Given the description of an element on the screen output the (x, y) to click on. 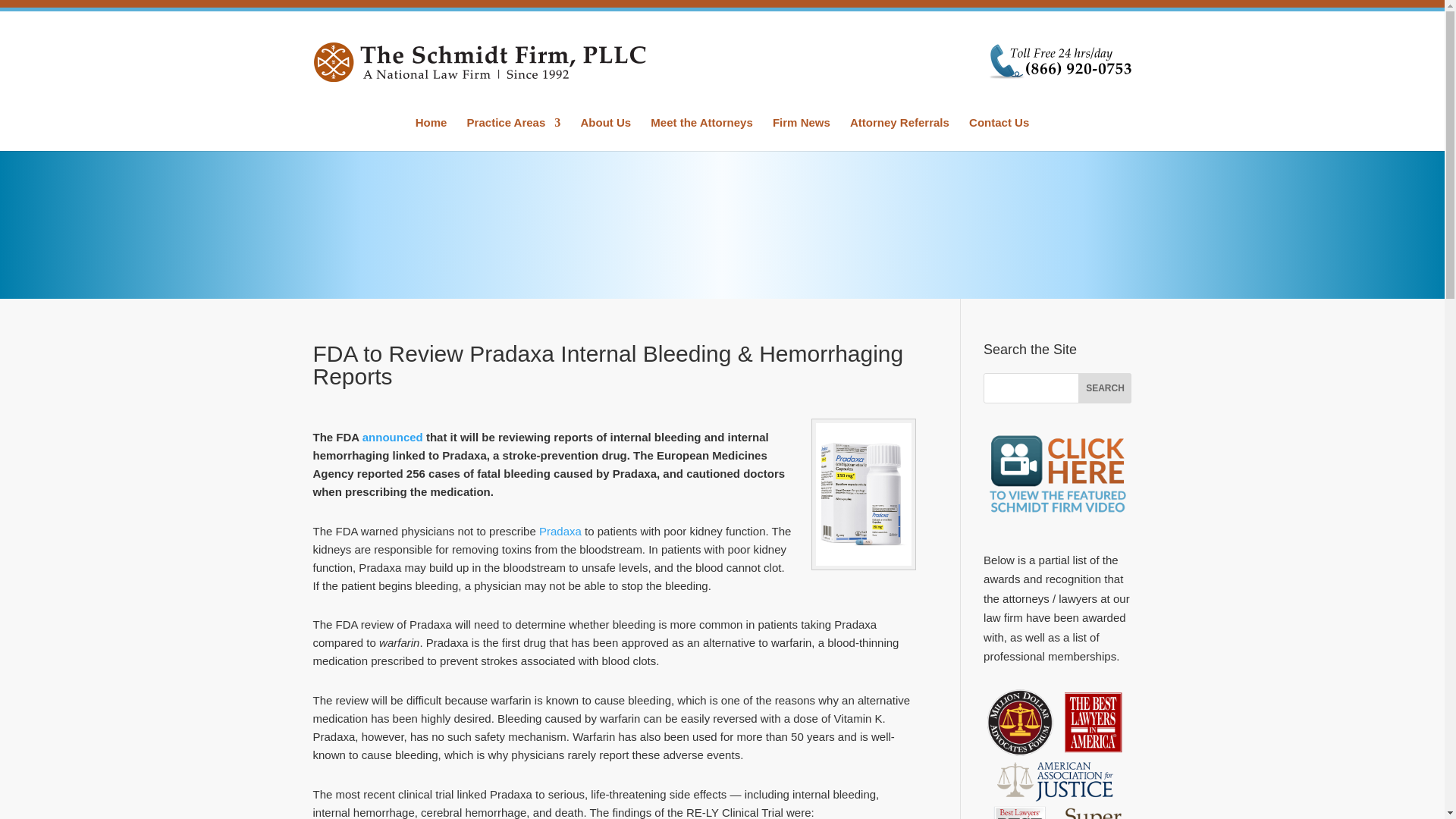
announced (391, 436)
Attorney Referrals (899, 133)
Contact Us (999, 133)
About Us (604, 133)
Firm News (801, 133)
Search (1104, 388)
Search (1104, 388)
Pradaxa (559, 530)
Home (430, 133)
Meet the Attorneys (701, 133)
